Given the description of an element on the screen output the (x, y) to click on. 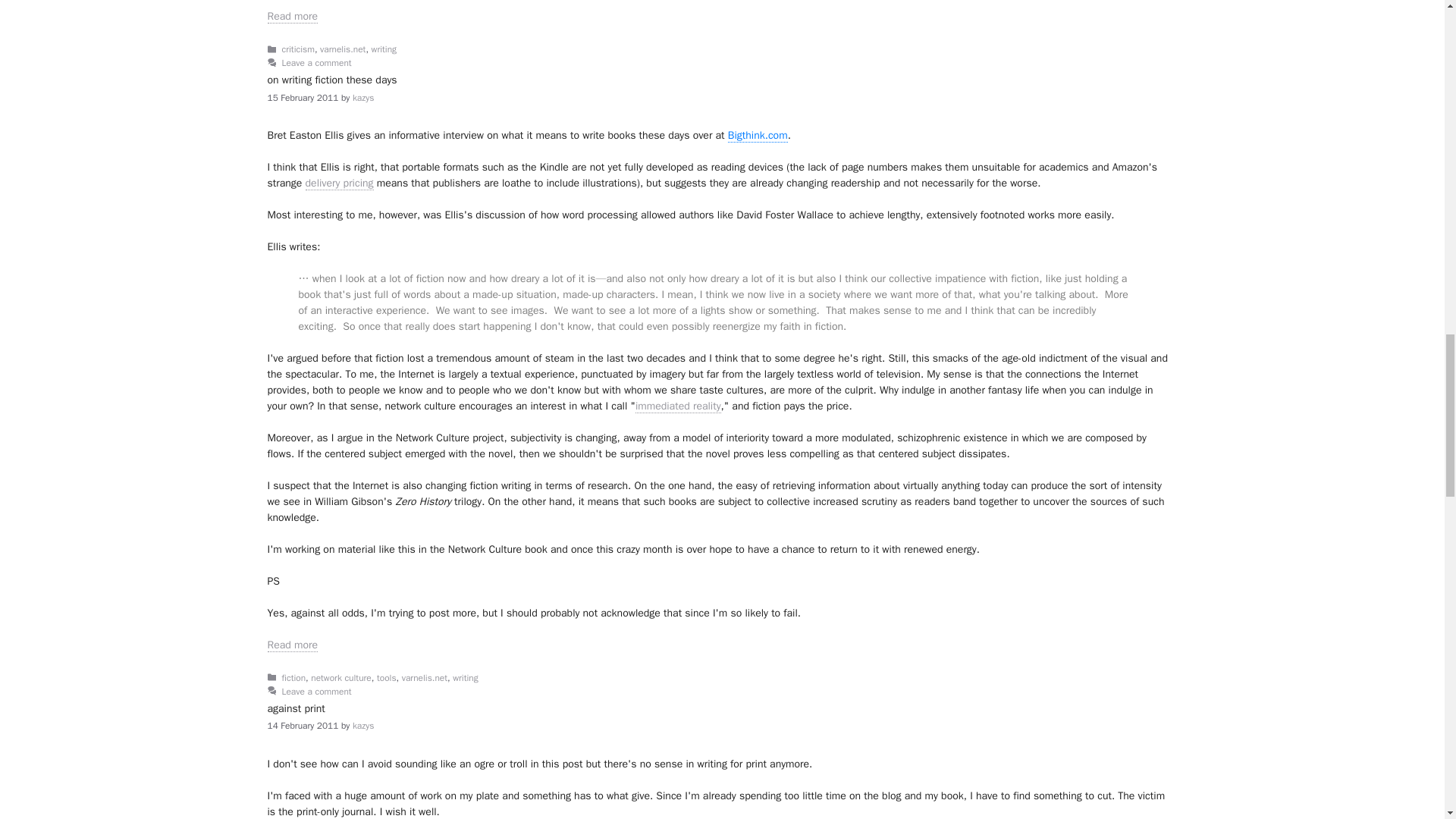
View all posts by kazys (363, 726)
View all posts by kazys (363, 98)
On Writing Fiction These Days (291, 644)
